Given the description of an element on the screen output the (x, y) to click on. 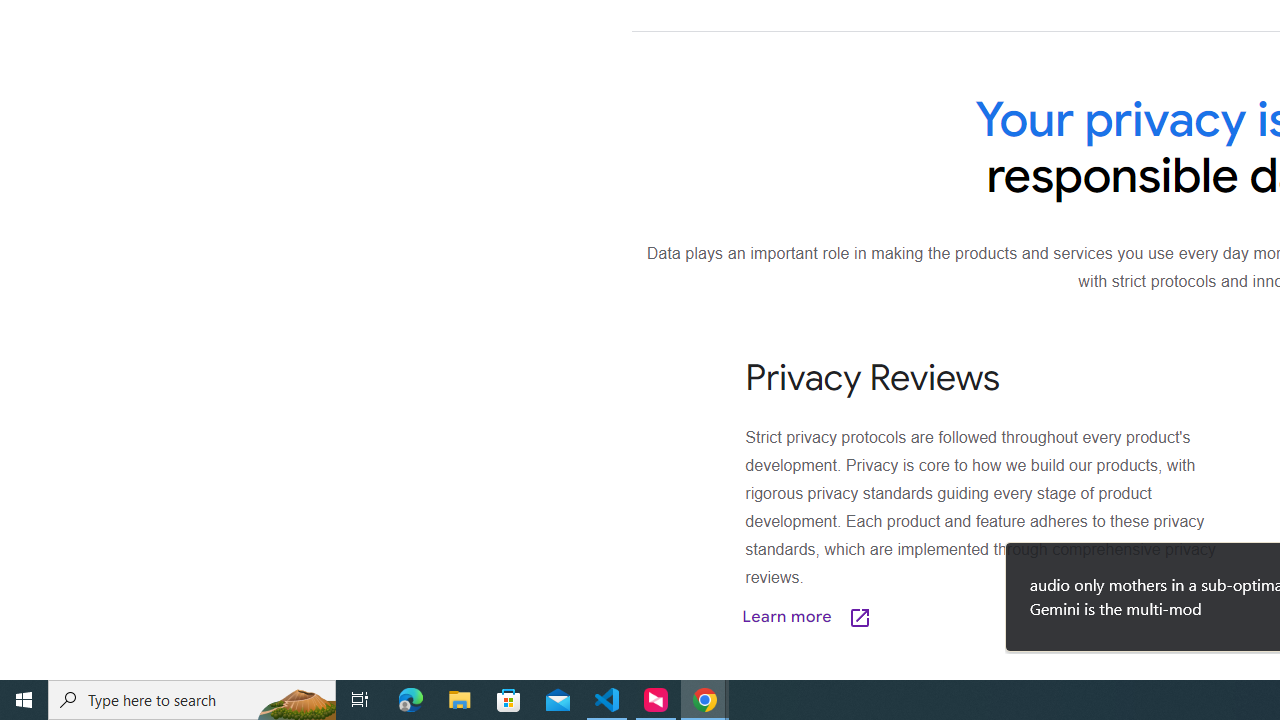
Learn more  (907, 616)
